Given the description of an element on the screen output the (x, y) to click on. 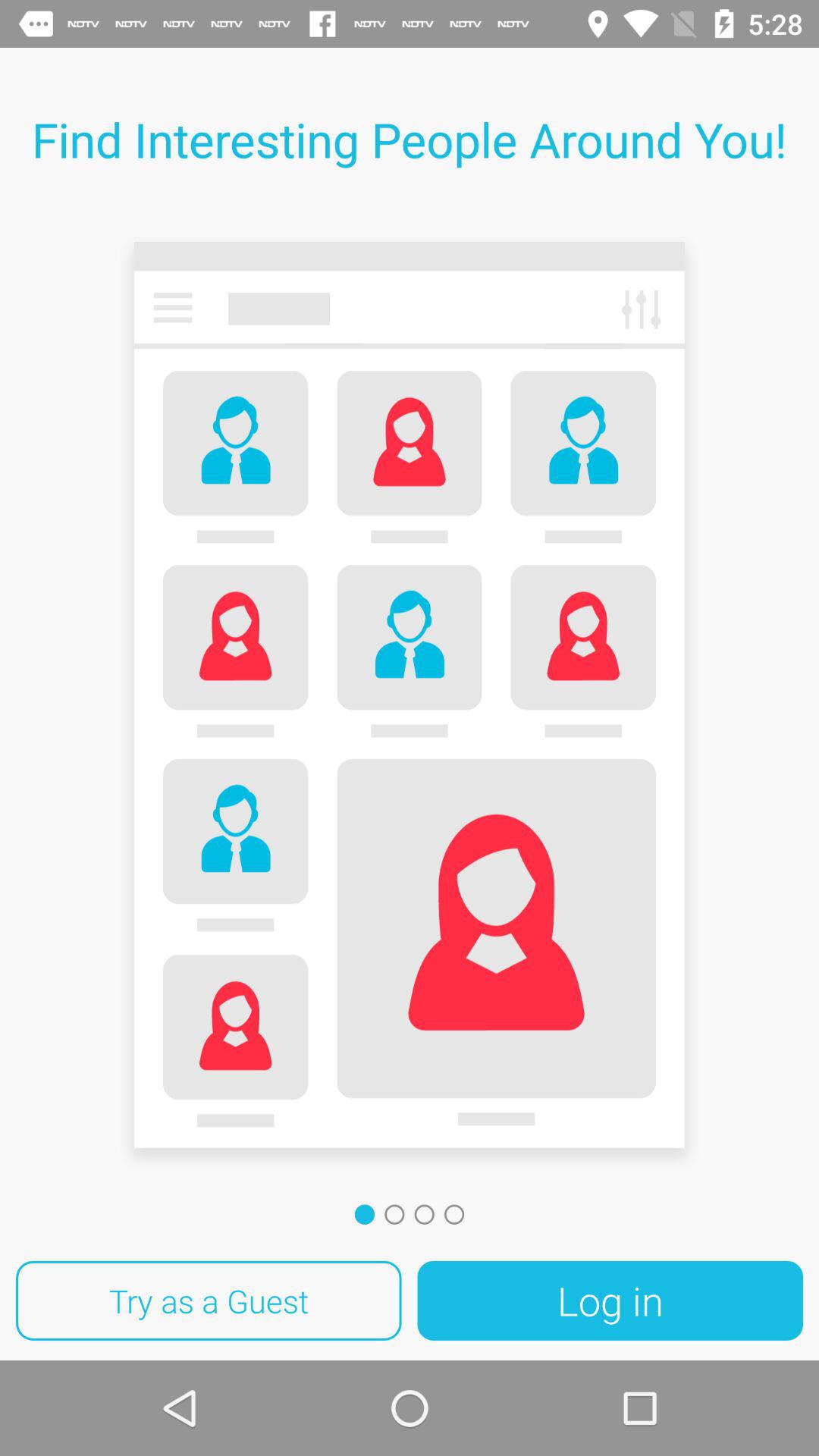
press item at the bottom left corner (208, 1300)
